Given the description of an element on the screen output the (x, y) to click on. 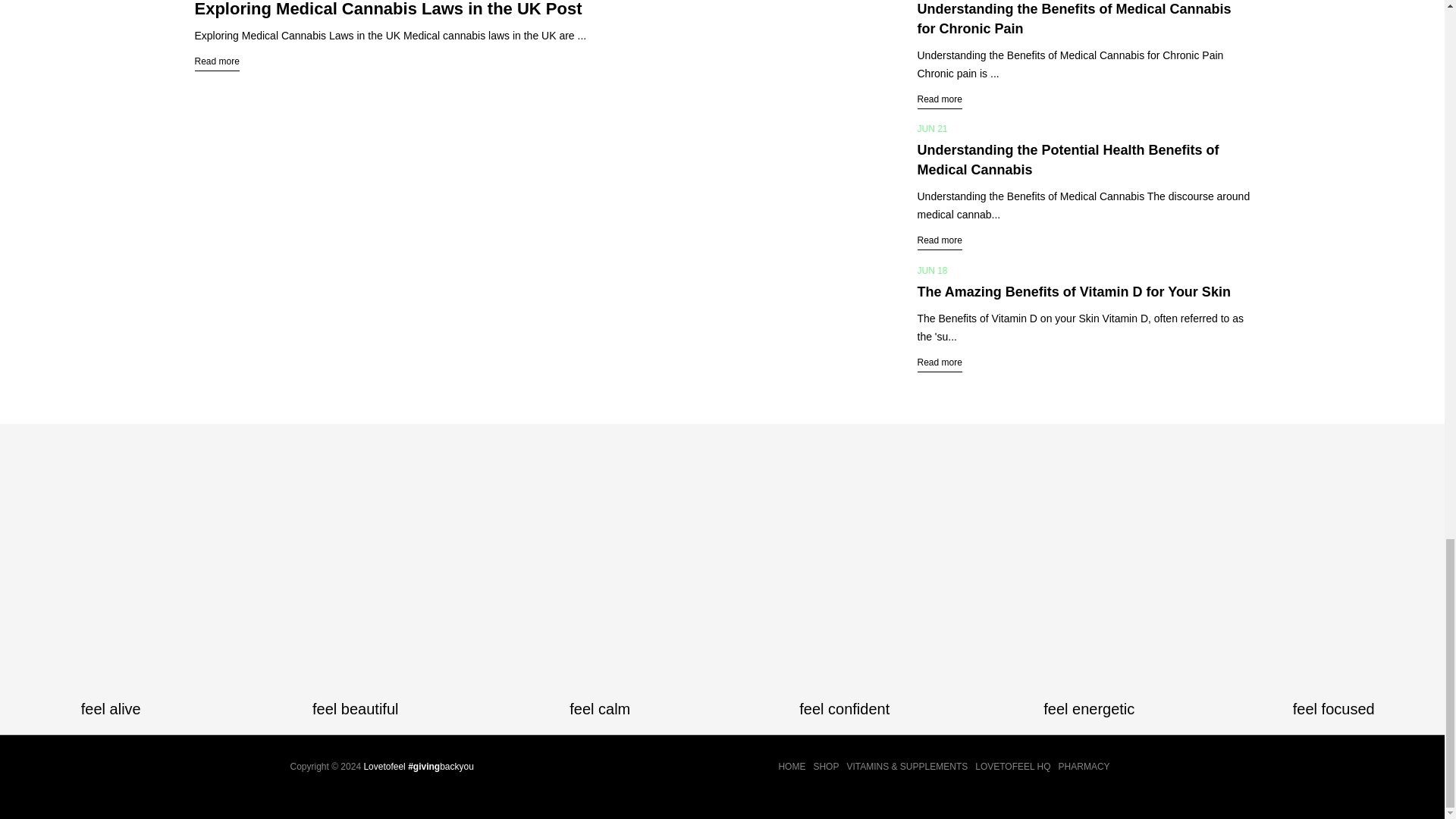
Read more (939, 99)
feel confident (844, 708)
The Amazing Benefits of Vitamin D for Your Skin (1073, 291)
Read more (939, 362)
Read more (215, 61)
Read more (939, 240)
feel calm (600, 708)
feel alive (111, 708)
Exploring Medical Cannabis Laws in the UK Post (386, 9)
feel beautiful (354, 708)
